Given the description of an element on the screen output the (x, y) to click on. 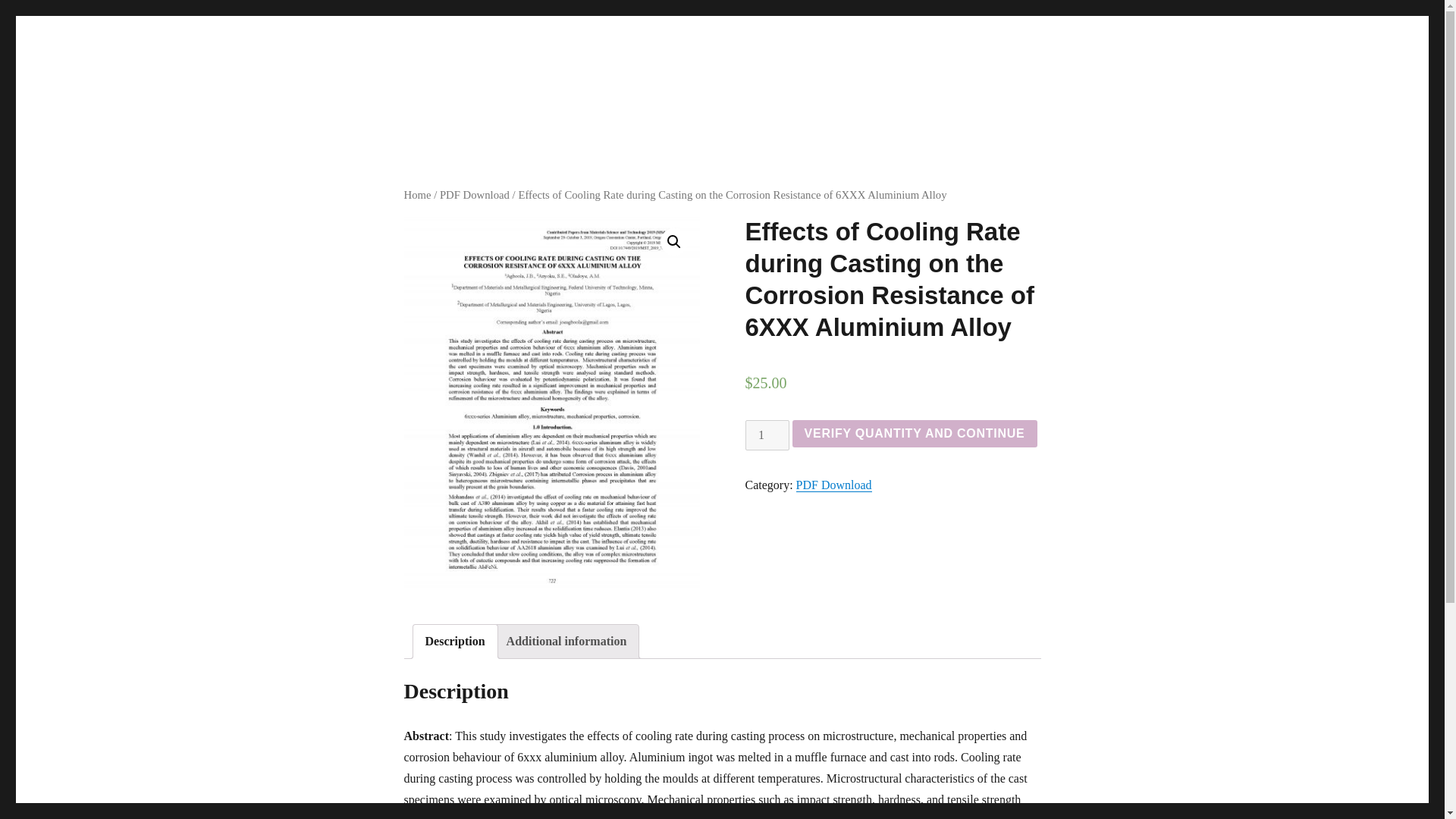
Internet Bookstore Pro (381, 114)
Home (416, 194)
VERIFY QUANTITY AND CONTINUE (914, 433)
Additional information (566, 641)
Qty (766, 435)
PDF Download (834, 484)
1 (766, 435)
PDF Download (474, 194)
Description (454, 641)
